Given the description of an element on the screen output the (x, y) to click on. 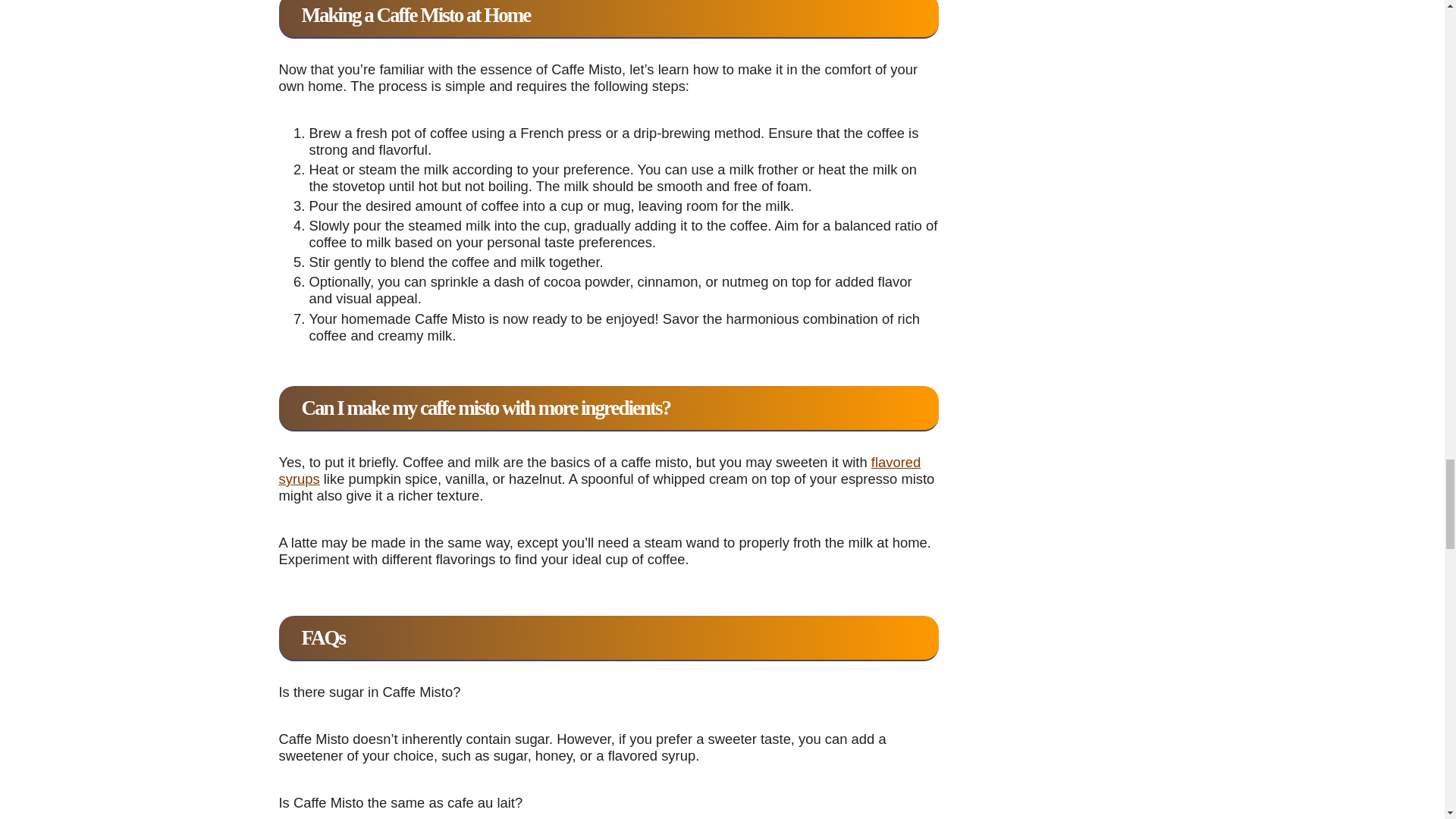
flavored syrups (600, 470)
